Given the description of an element on the screen output the (x, y) to click on. 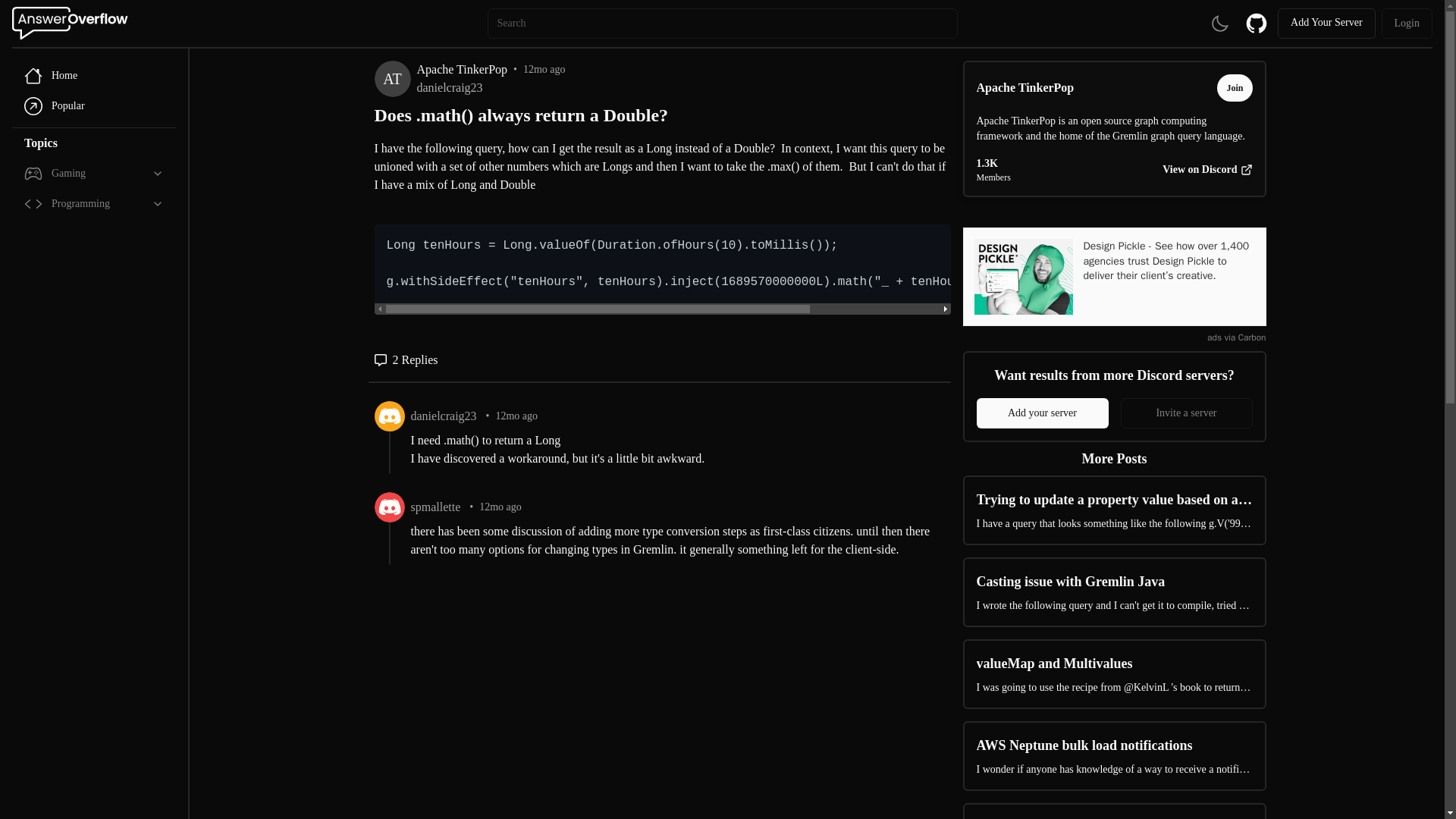
Apache TinkerPop (1025, 87)
danielcraig23 (443, 416)
AT (392, 78)
Answer Overflow Logo (72, 22)
Invite a server (1186, 413)
GitHub (1256, 23)
Add Your Server (1326, 23)
Add your server (1042, 413)
spmallette (435, 506)
danielcraig23 (491, 87)
Home (93, 75)
Gaming (93, 173)
Popular (93, 105)
Join (1234, 87)
